Given the description of an element on the screen output the (x, y) to click on. 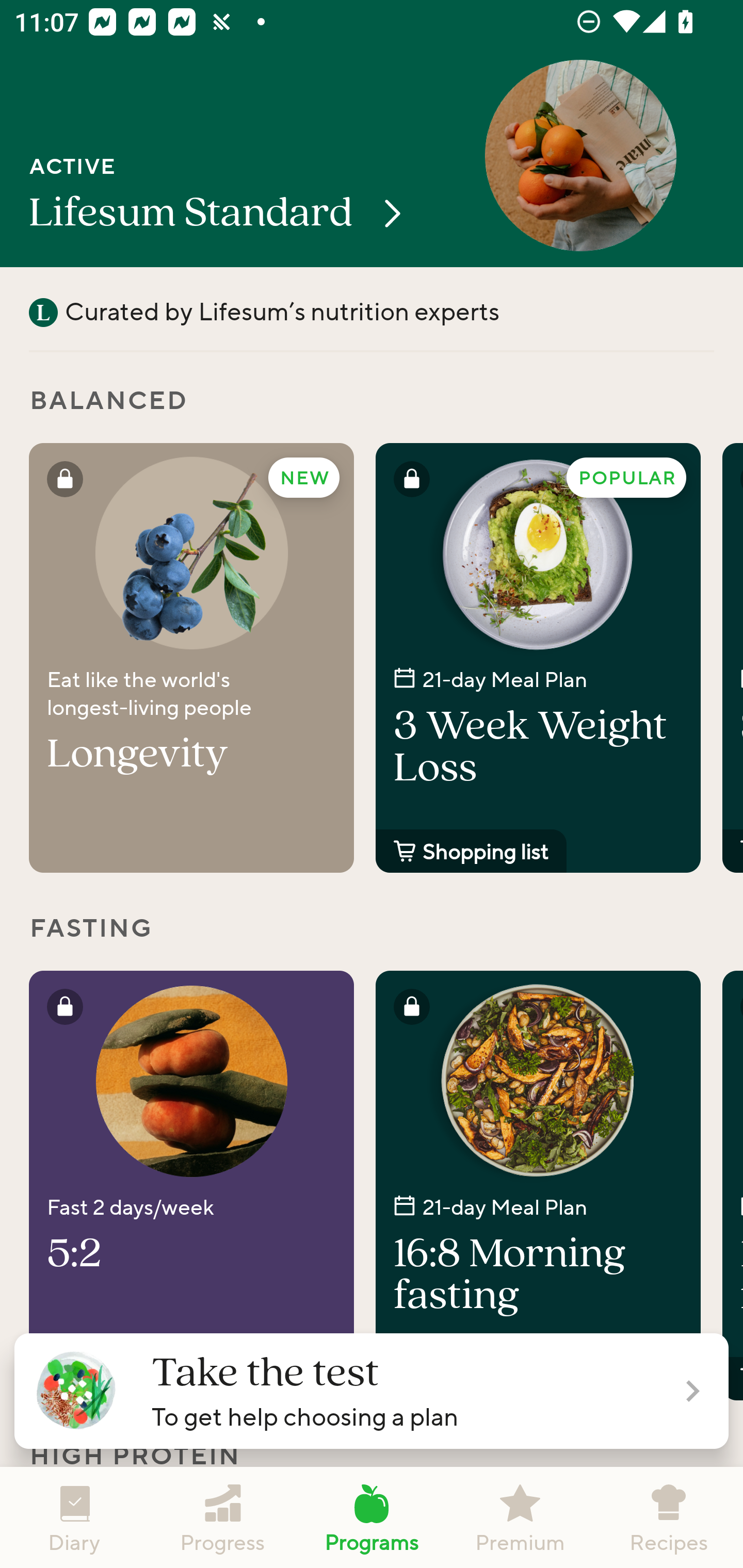
Fast 2 days/week 5:2 (190, 1185)
Take the test To get help choosing a plan (371, 1390)
Diary (74, 1517)
Progress (222, 1517)
Premium (519, 1517)
Recipes (668, 1517)
